Given the description of an element on the screen output the (x, y) to click on. 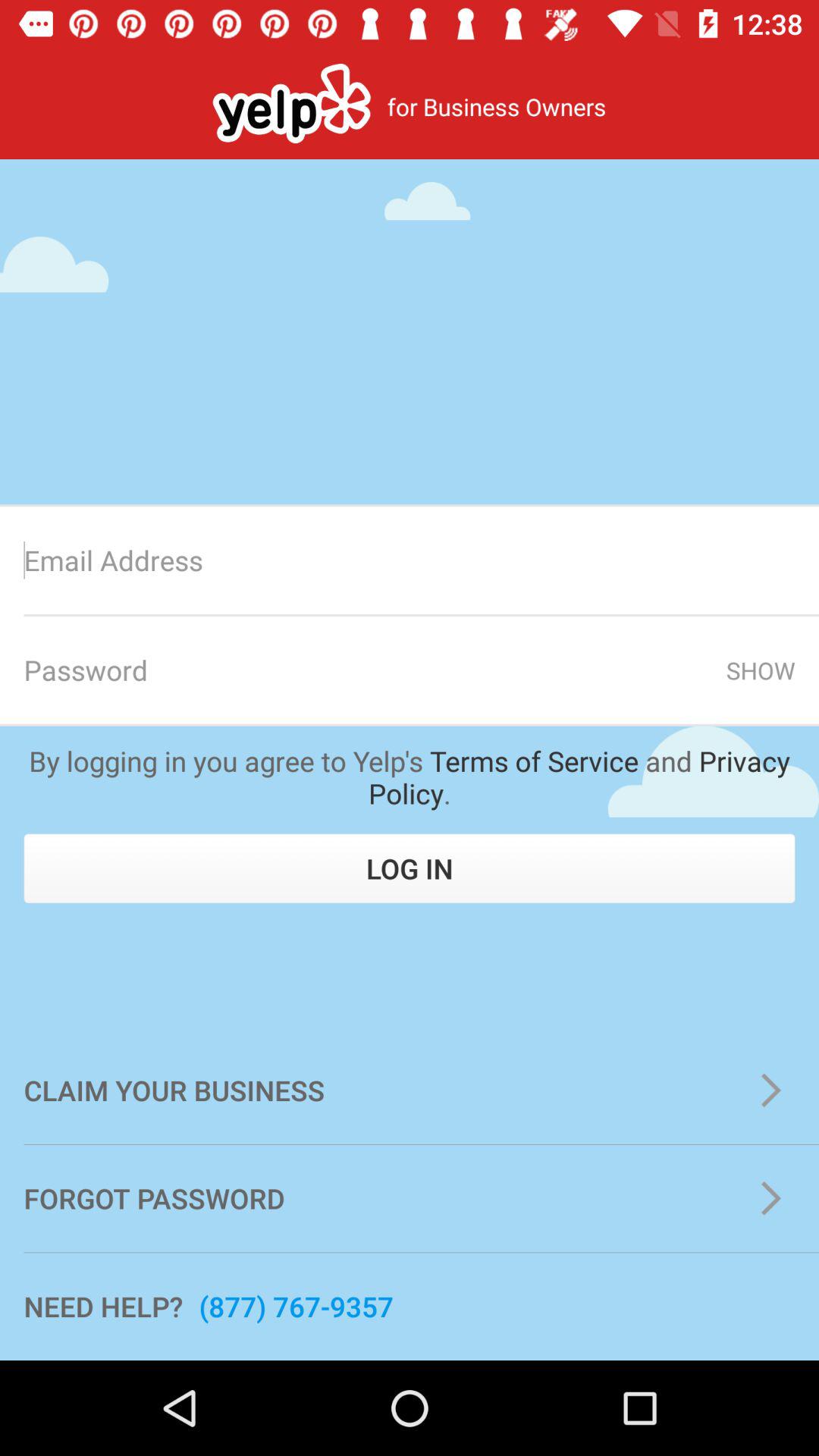
press the icon above the claim your business (409, 868)
